Given the description of an element on the screen output the (x, y) to click on. 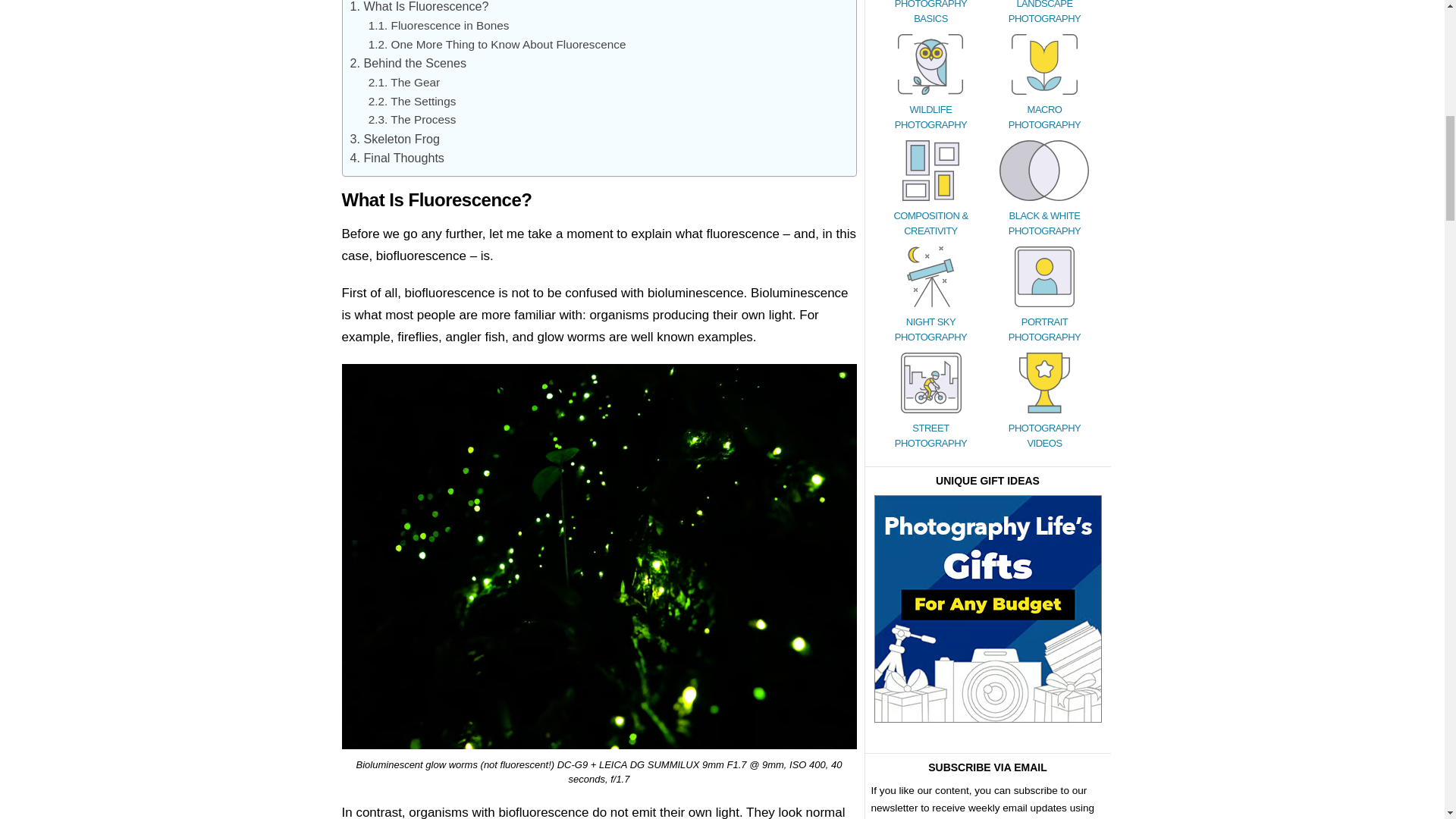
Skeleton Frog (394, 138)
What Is Fluorescence? (419, 6)
The Gear (403, 82)
The Gear (403, 82)
The Settings (412, 101)
Final Thoughts (397, 157)
The Process (412, 119)
Final Thoughts (397, 157)
Behind the Scenes (407, 62)
The Settings (412, 101)
